Given the description of an element on the screen output the (x, y) to click on. 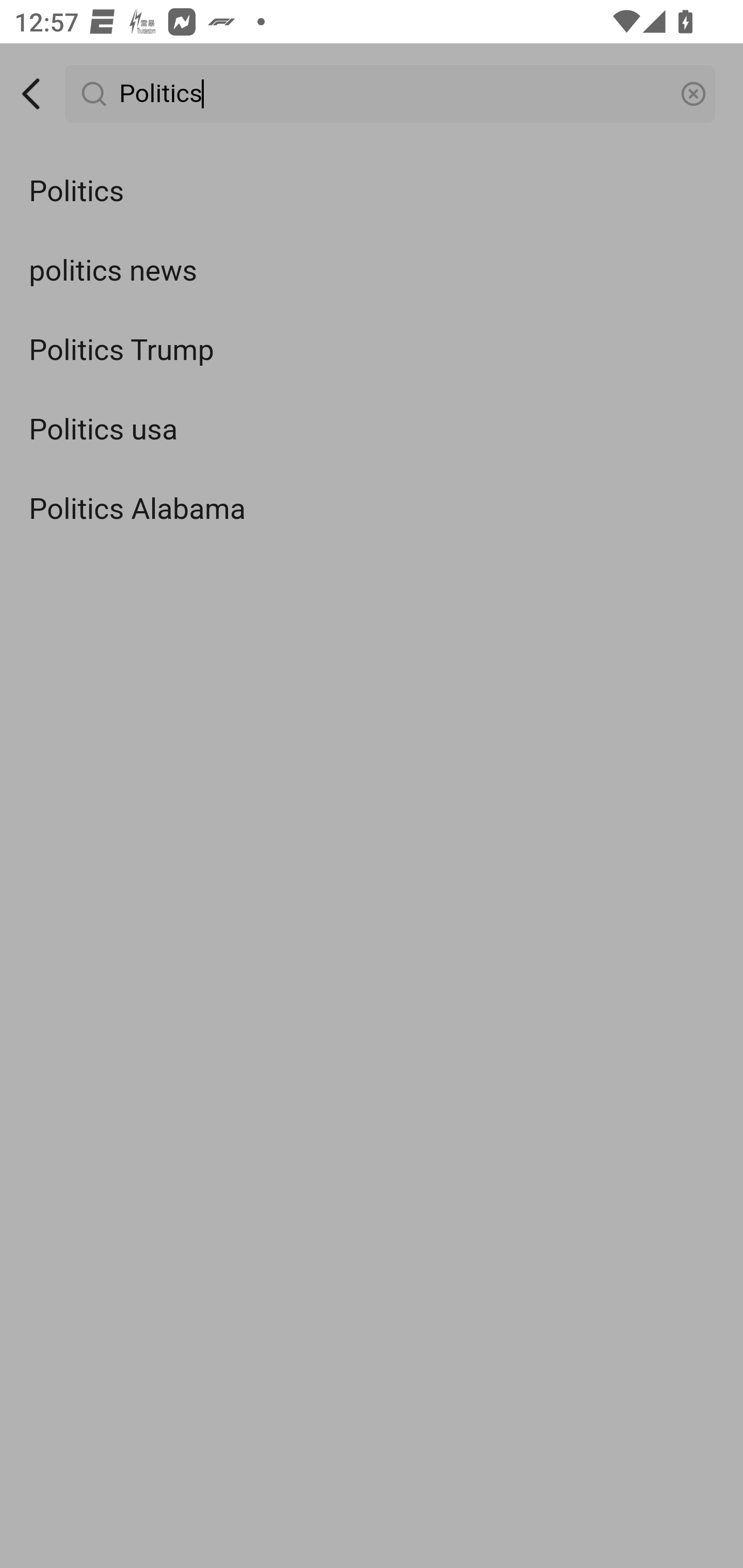
Politics (390, 93)
Politics (371, 192)
politics news (371, 270)
Politics Trump (371, 351)
Politics usa (371, 430)
Politics Alabama (371, 508)
